Given the description of an element on the screen output the (x, y) to click on. 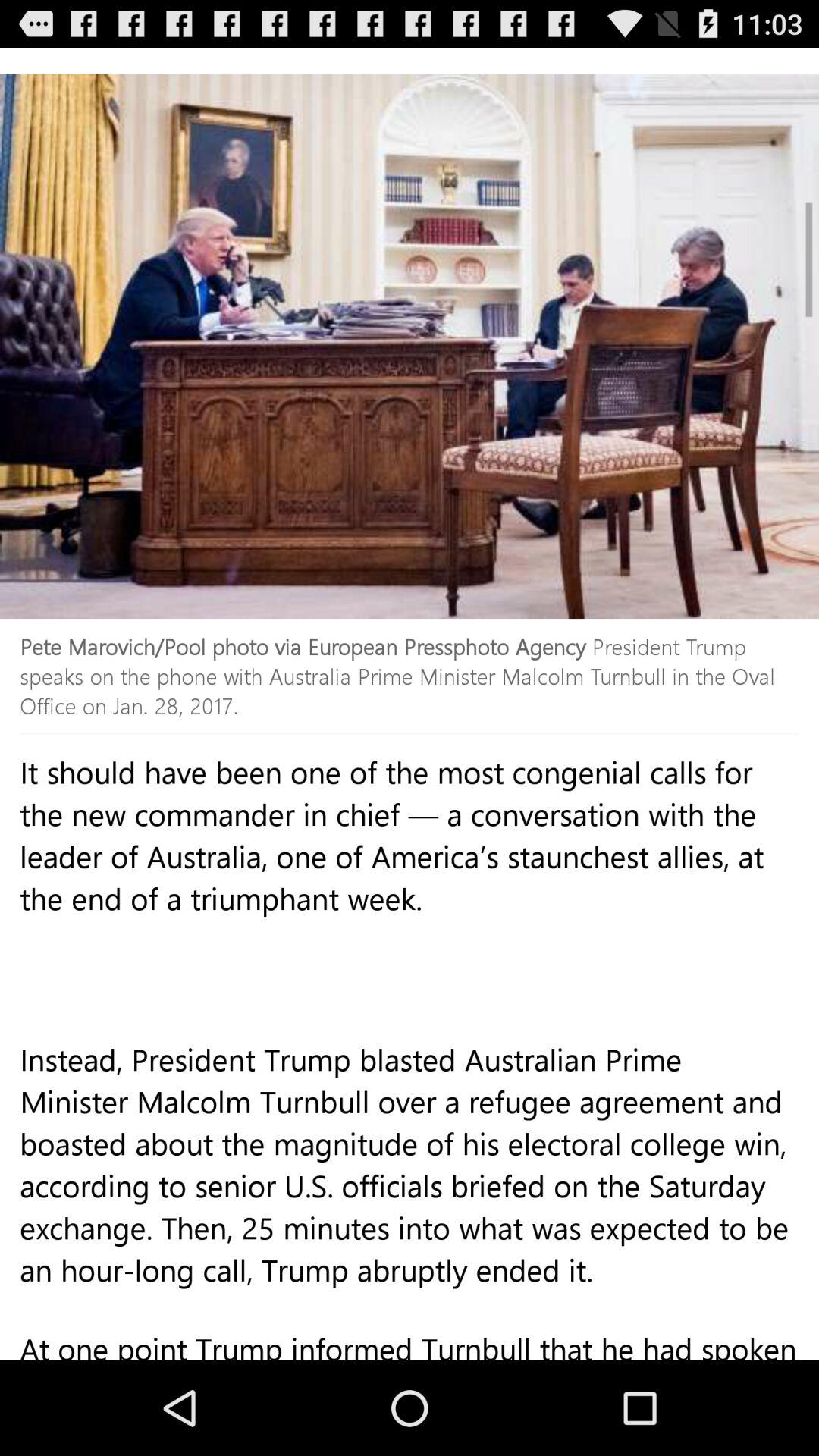
open instead president trump item (409, 1197)
